Given the description of an element on the screen output the (x, y) to click on. 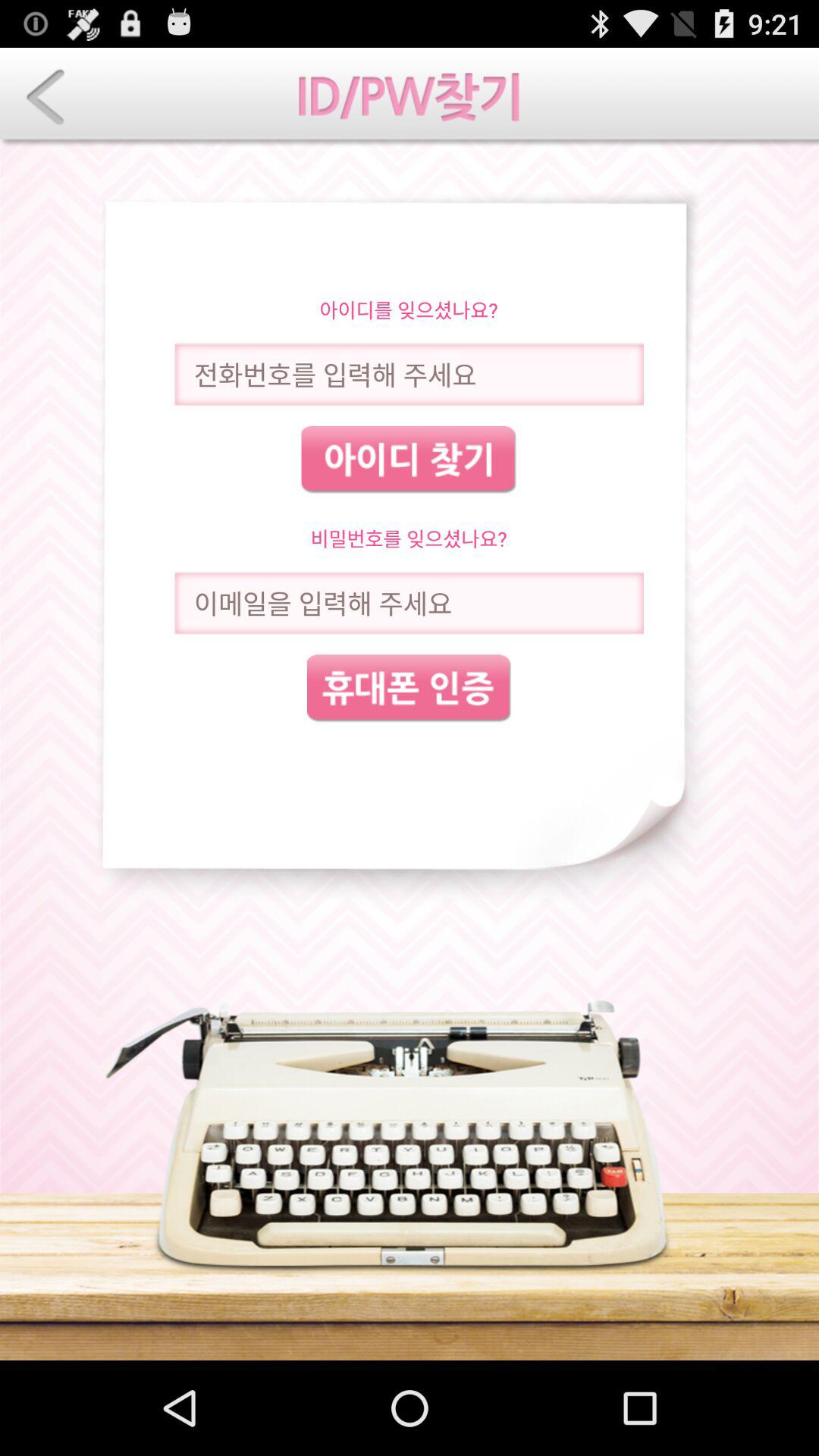
go back a page (45, 96)
